Given the description of an element on the screen output the (x, y) to click on. 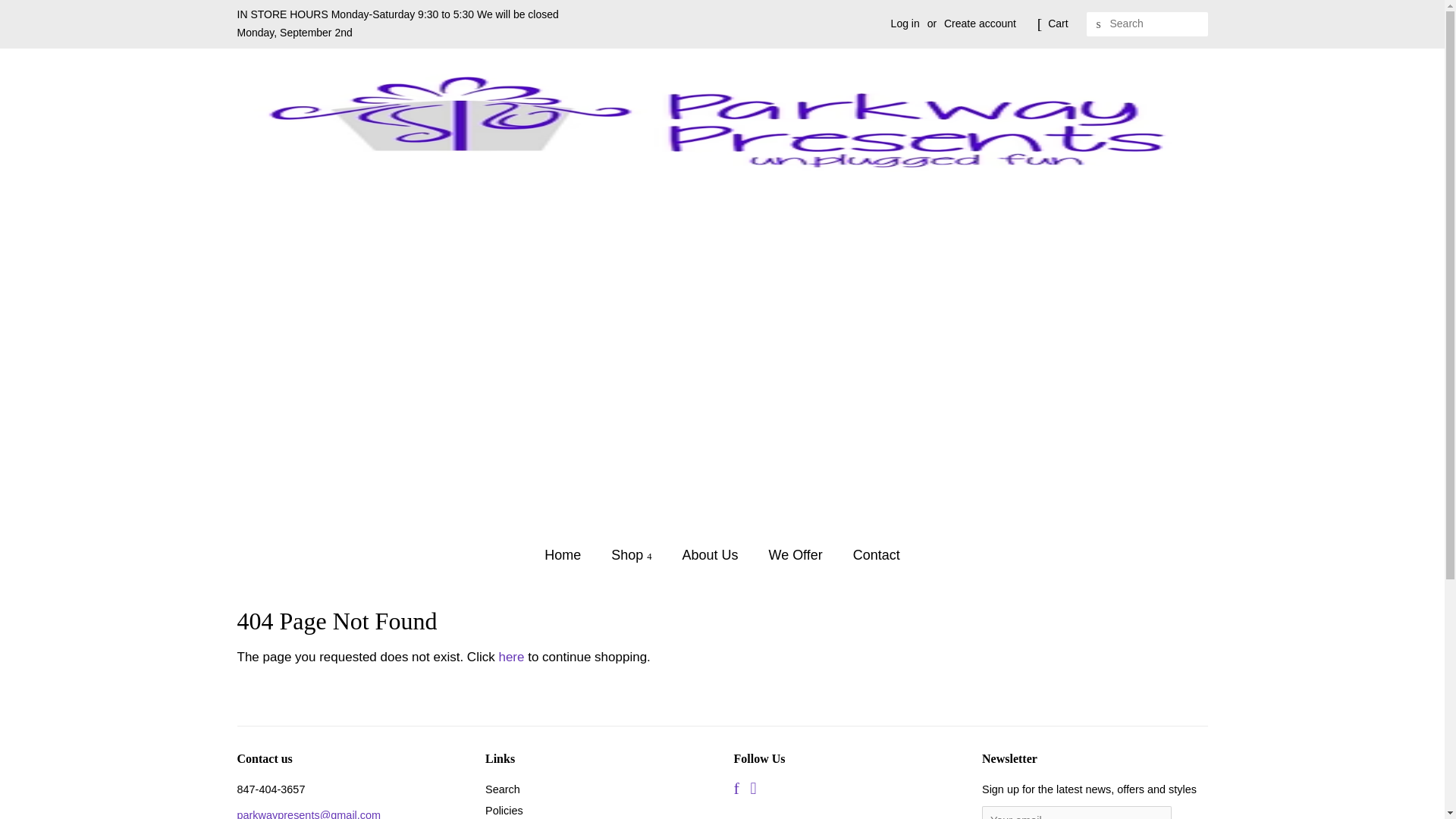
Cart (1057, 24)
Log in (905, 23)
Create account (979, 23)
Search (1097, 24)
Shop (632, 555)
Home (569, 555)
